Given the description of an element on the screen output the (x, y) to click on. 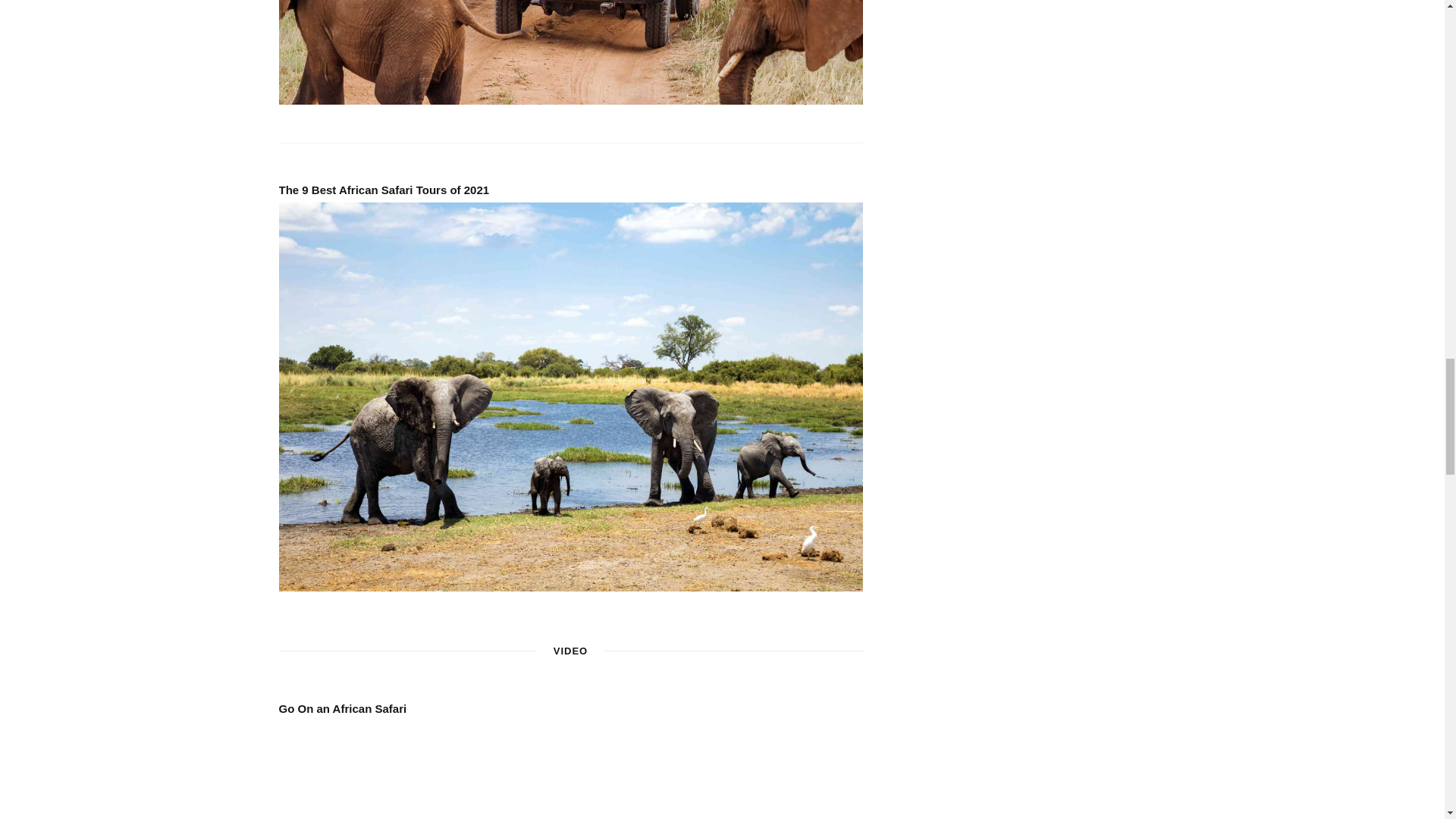
reise afrika safari (571, 52)
